Given the description of an element on the screen output the (x, y) to click on. 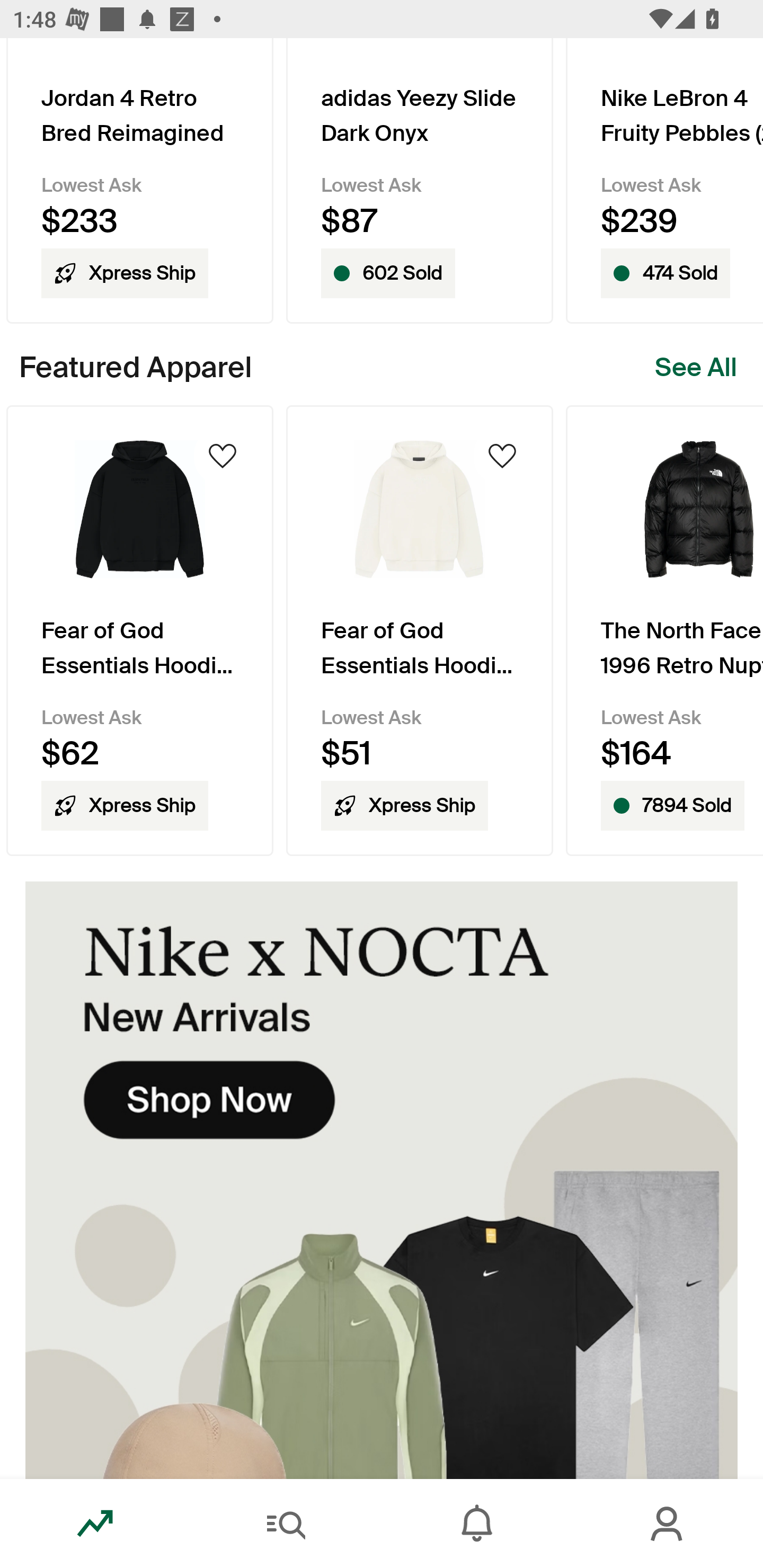
See All (695, 367)
Brand_Spotlight-_Nike_x_NOCTASecondaryB.jpg (381, 1179)
Search (285, 1523)
Inbox (476, 1523)
Account (667, 1523)
